Given the description of an element on the screen output the (x, y) to click on. 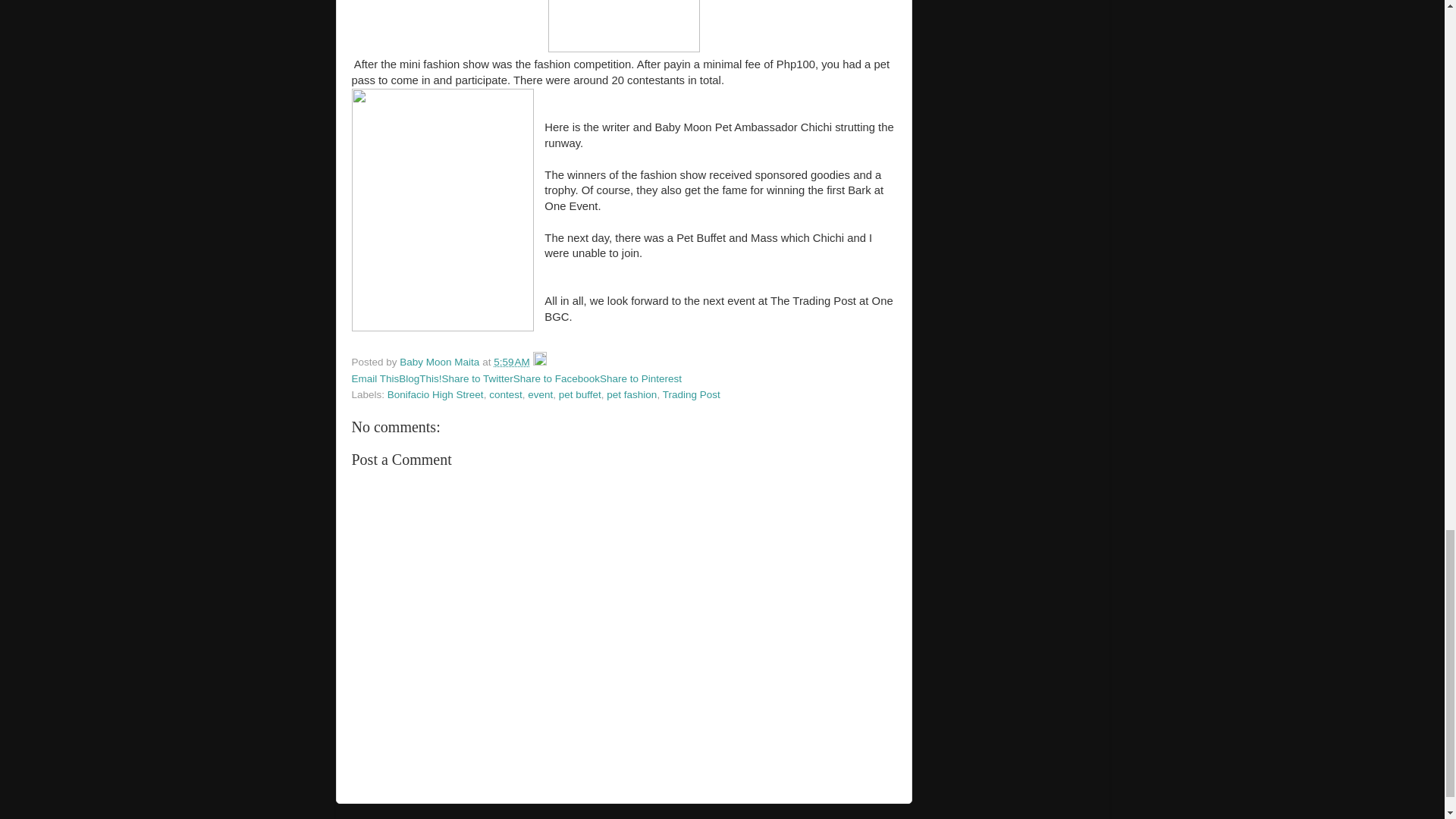
Share to Facebook (556, 378)
Email This (375, 378)
Share to Pinterest (640, 378)
author profile (439, 361)
permanent link (511, 361)
Edit Post (539, 361)
Share to Twitter (477, 378)
contest (505, 394)
Bonifacio High Street (435, 394)
Trading Post (691, 394)
